Given the description of an element on the screen output the (x, y) to click on. 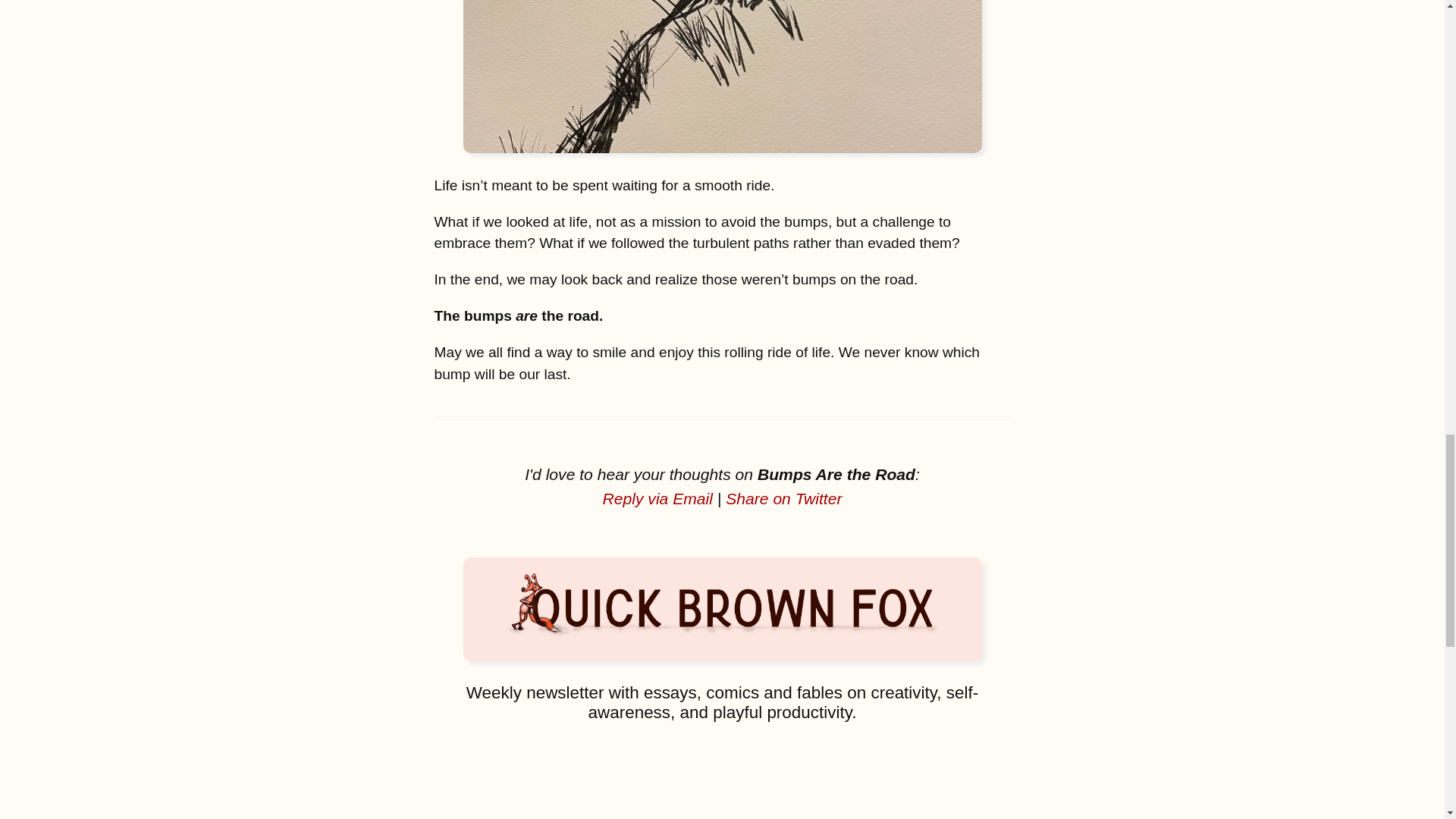
Quick Brown Fox Newsletter (722, 608)
Subscribe to Quick Brown Fox (721, 772)
Reply via Email (656, 497)
Bodah the boulder (722, 76)
Share on Twitter (783, 497)
